Given the description of an element on the screen output the (x, y) to click on. 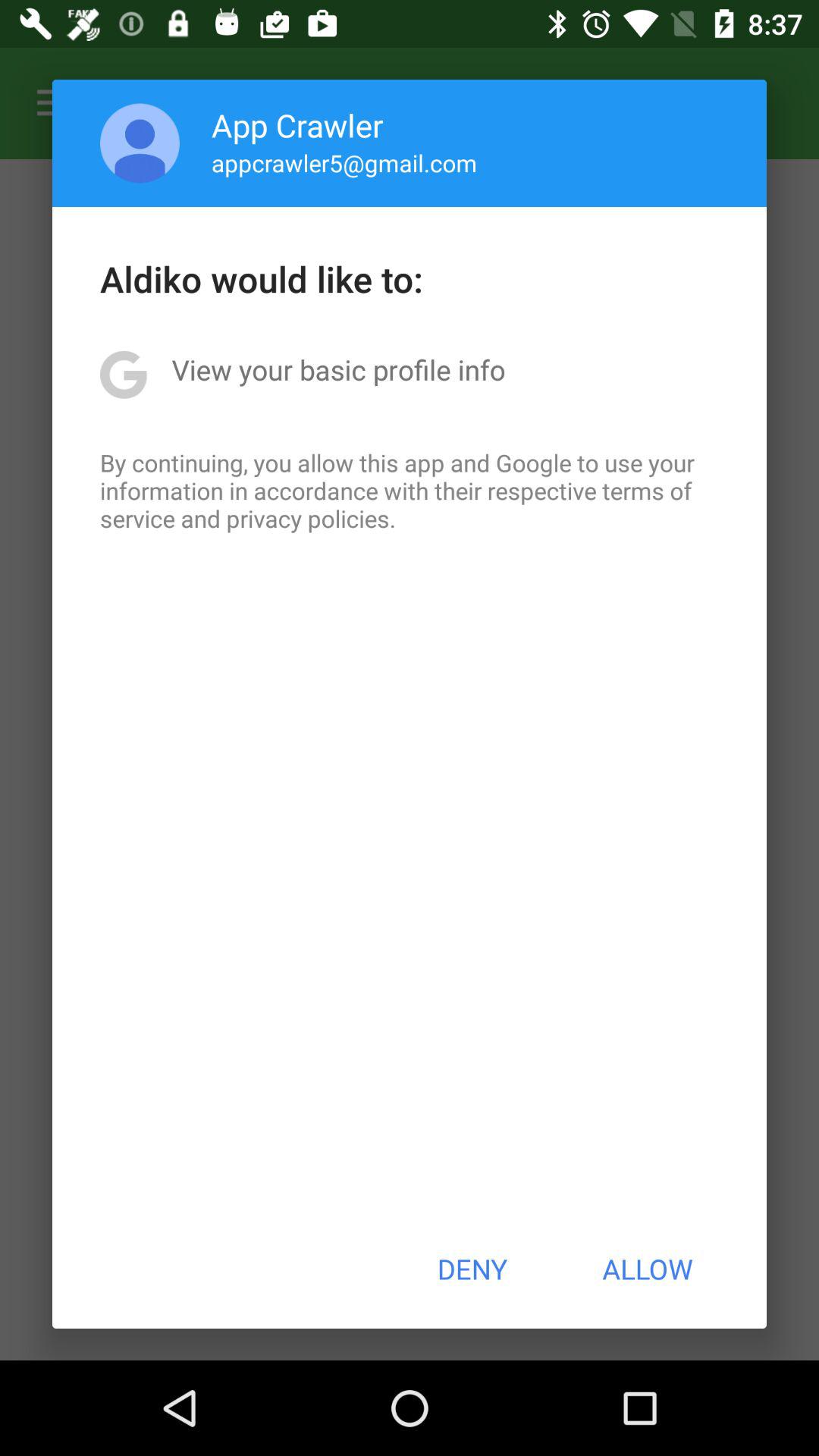
select the deny button (471, 1268)
